Given the description of an element on the screen output the (x, y) to click on. 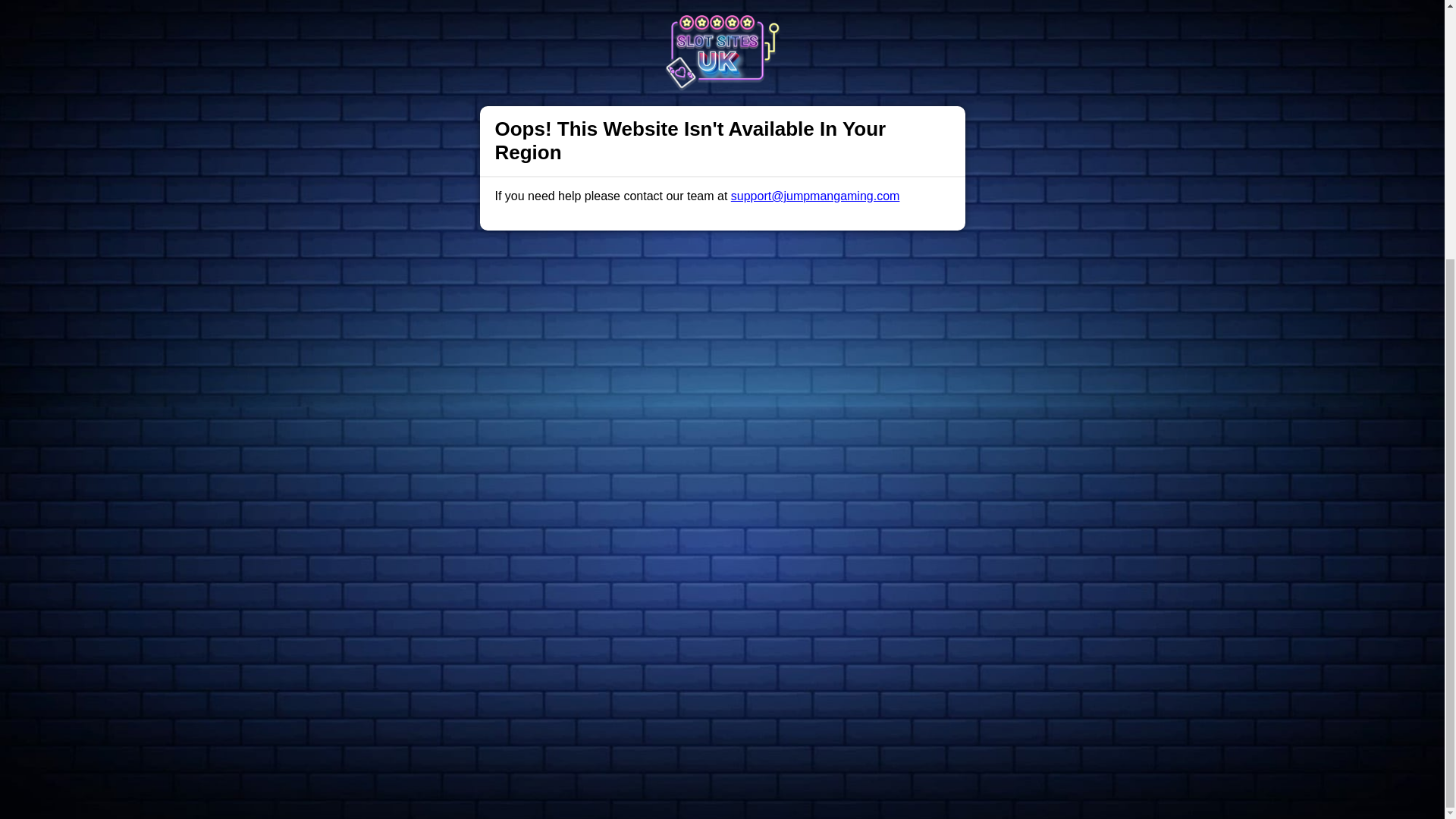
39175 (1002, 694)
Back To All Games (721, 393)
www.jumpmancares.co.uk (738, 657)
Responsible Gaming (407, 491)
Help (489, 491)
Blog (738, 491)
Affiliates (791, 491)
Jumpman Gaming Limited (526, 694)
Back To All Games (722, 393)
Privacy Policy (671, 491)
www.begambleaware.org (615, 657)
